Given the description of an element on the screen output the (x, y) to click on. 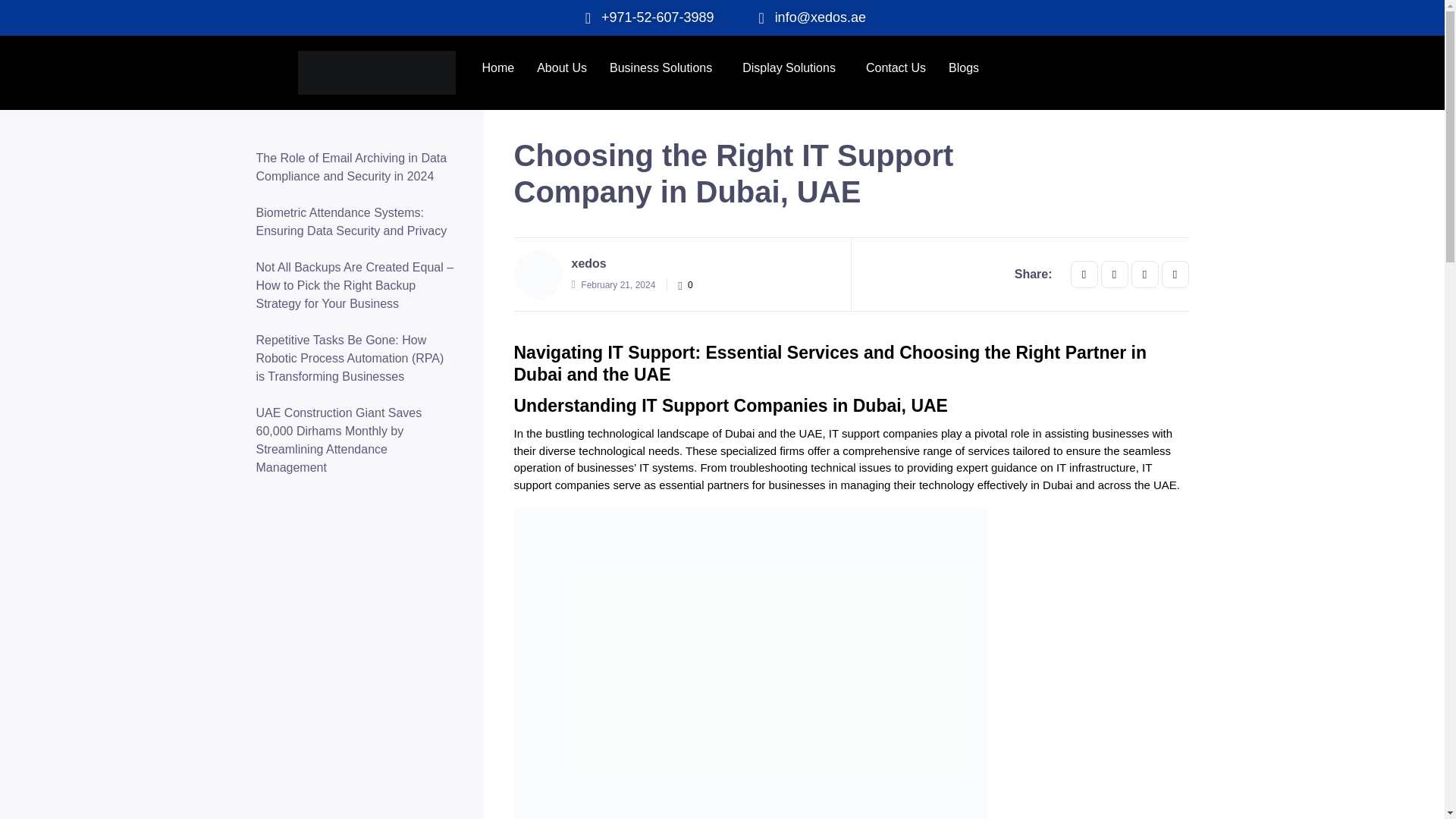
Share this on GMail (1144, 274)
Home (497, 67)
Contact Us (895, 67)
 0 (685, 284)
Display Solutions (792, 67)
IT support companies p (887, 432)
Share this on EMail (1175, 274)
Blogs (963, 67)
Share this on FaceBook (1083, 274)
Share this on Twitter (1114, 274)
